Given the description of an element on the screen output the (x, y) to click on. 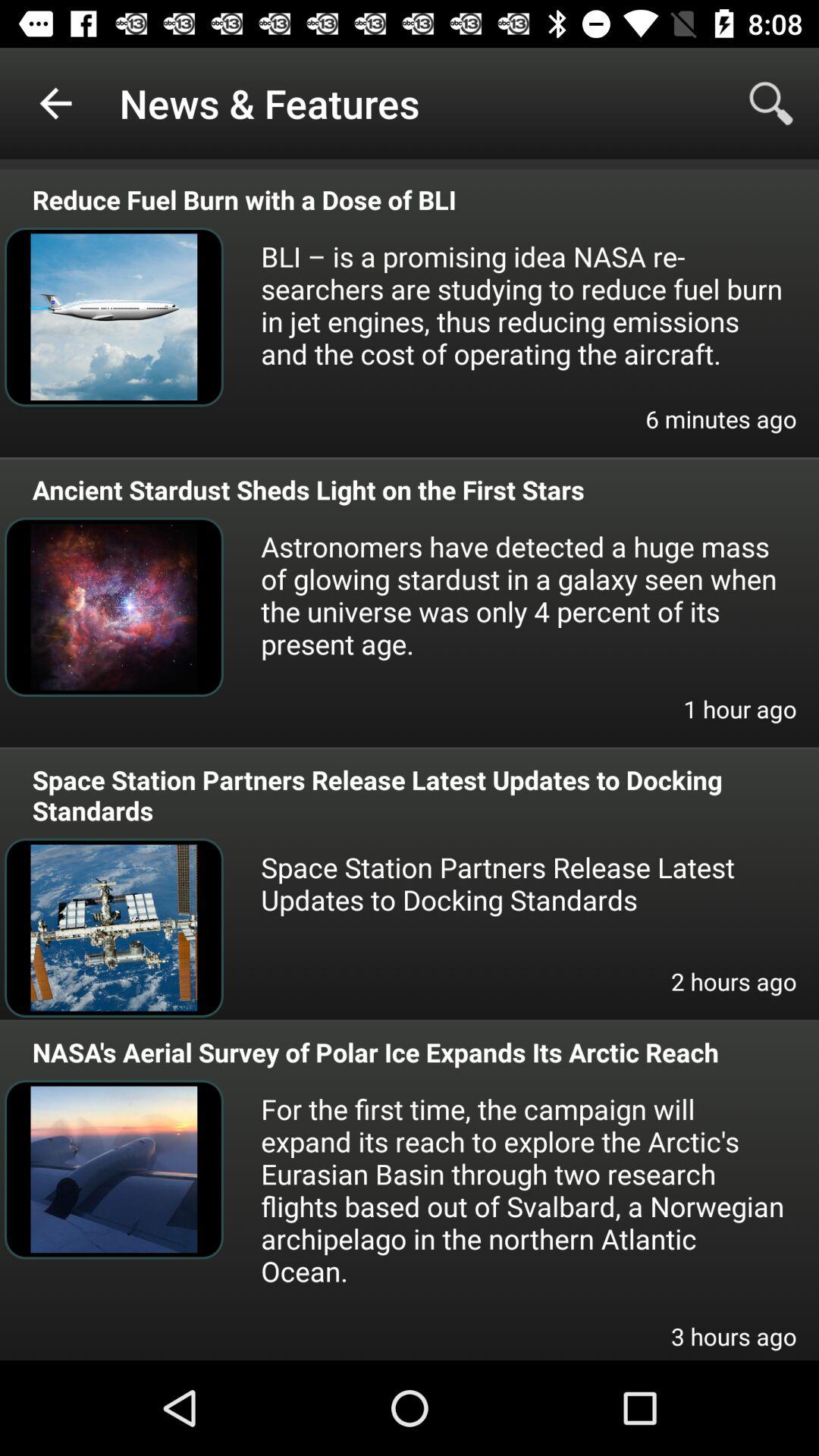
select the icon next to news & features item (55, 103)
